Given the description of an element on the screen output the (x, y) to click on. 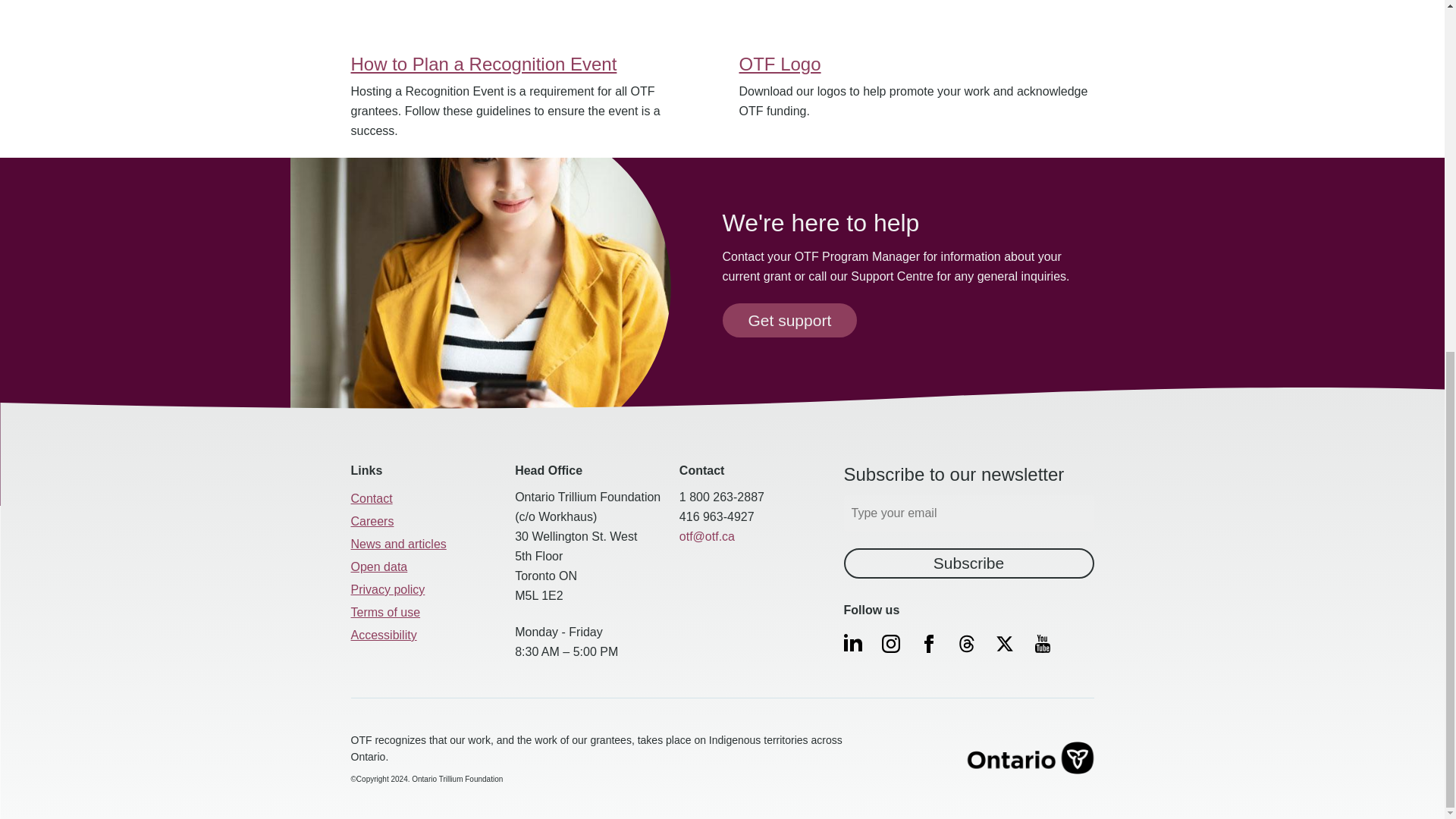
OTF Facebook link (928, 643)
Subscribe (968, 562)
OTF LinkedIn link (853, 641)
OTF Instagram link (891, 643)
OTF X link (1004, 643)
OTF YouTube link (1042, 643)
OTF Threads link (966, 643)
